Given the description of an element on the screen output the (x, y) to click on. 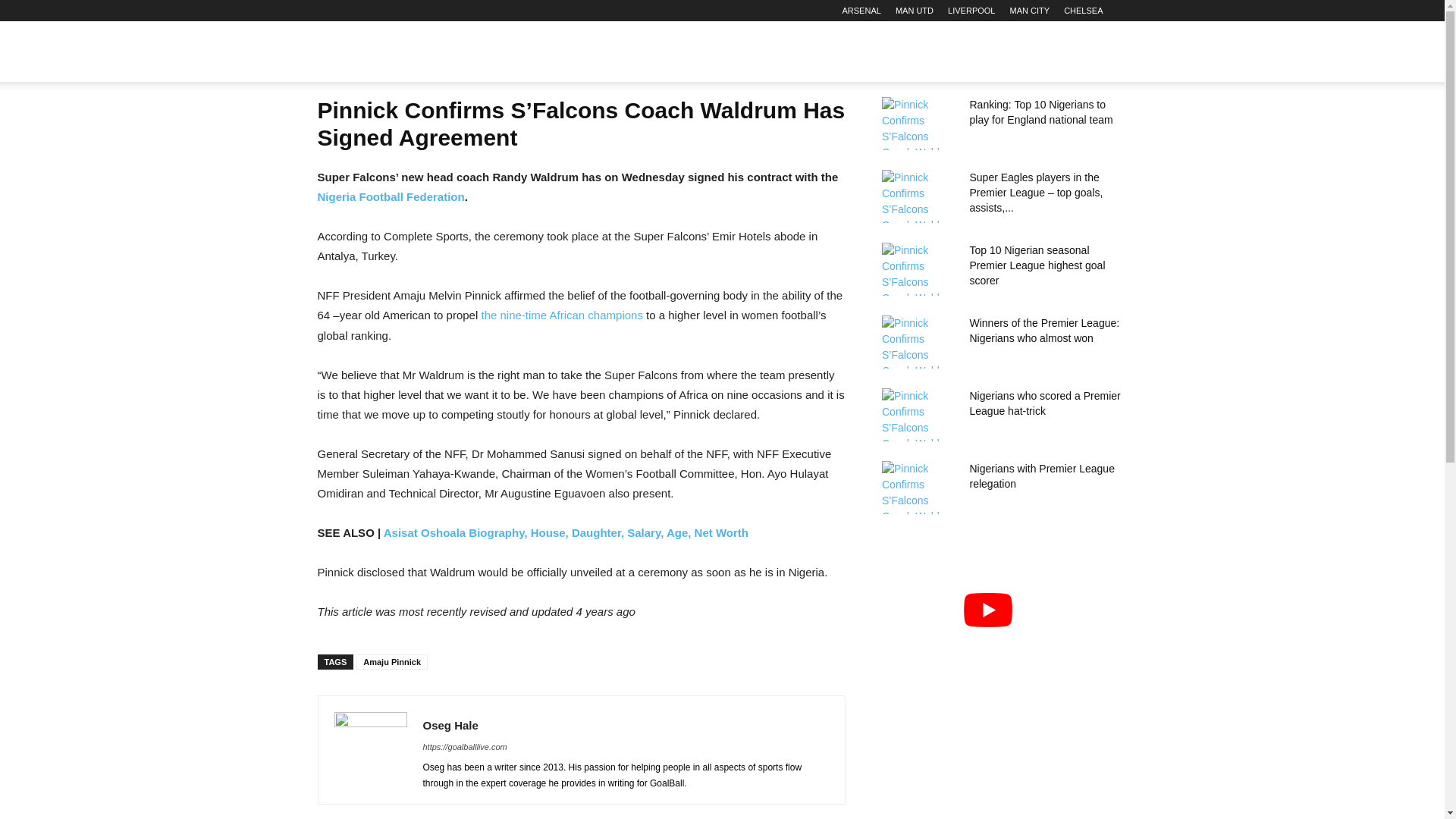
Ranking: Top 10 Nigerians to play for England national team (918, 123)
LIVERPOOL (970, 10)
Top 10 Nigerian seasonal Premier League highest goal scorer (918, 268)
MAN UTD (914, 10)
Ranking: Top 10 Nigerians to play for England national team (1040, 112)
ARSENAL (860, 10)
GOALBALL (392, 52)
